Given the description of an element on the screen output the (x, y) to click on. 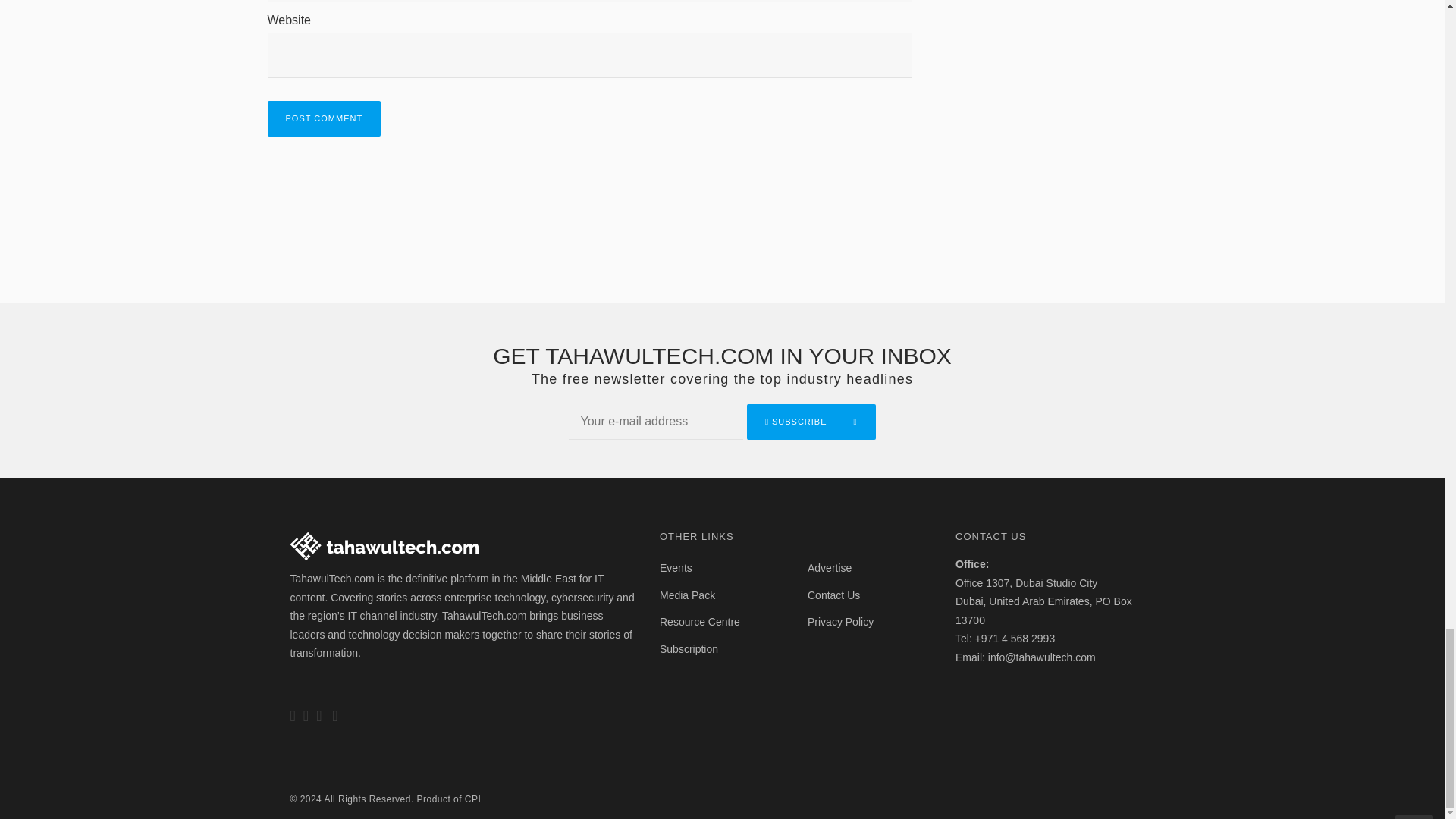
Post Comment (323, 118)
